Given the description of an element on the screen output the (x, y) to click on. 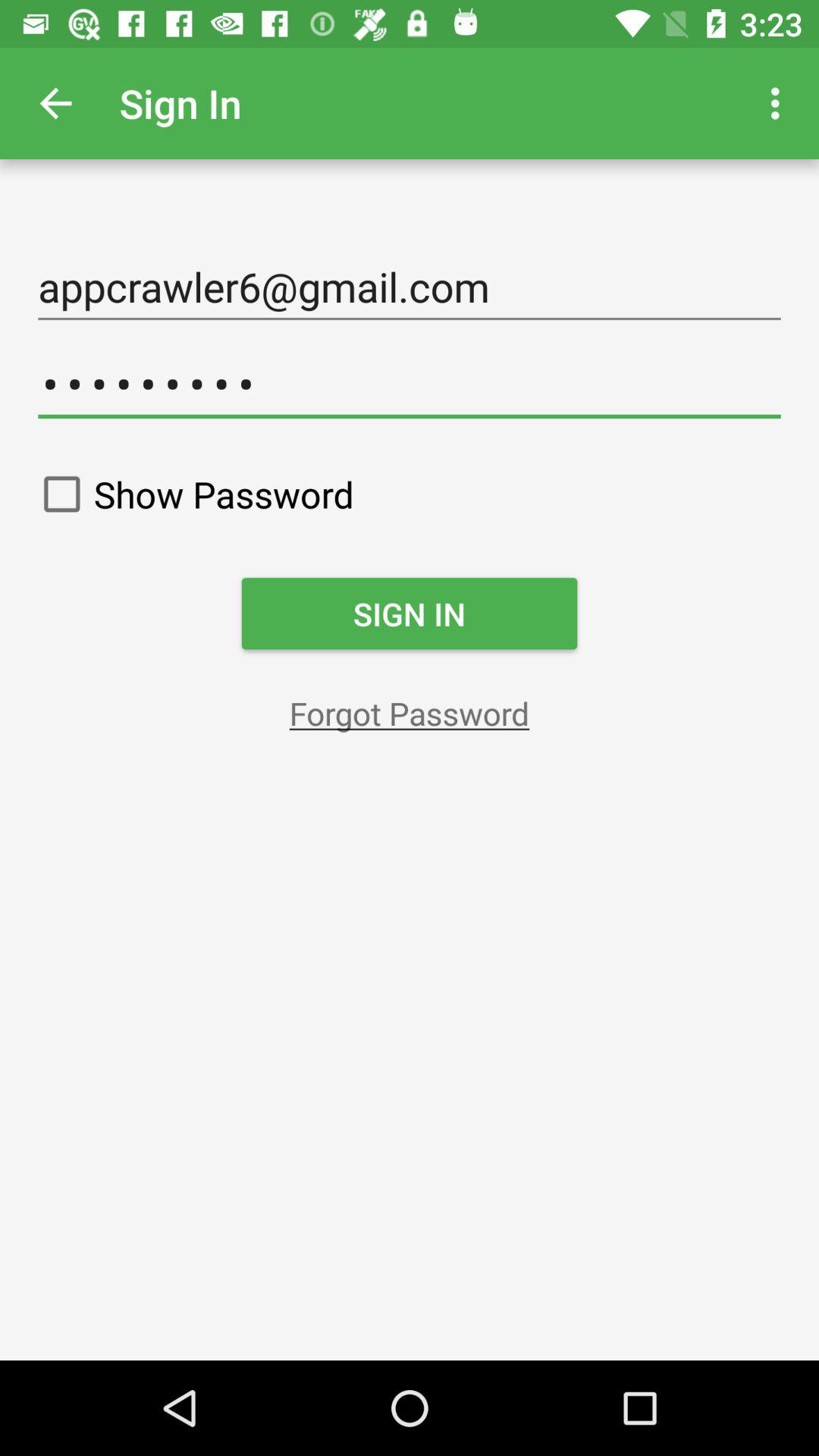
swipe to appcrawler6@gmail.com (409, 286)
